Given the description of an element on the screen output the (x, y) to click on. 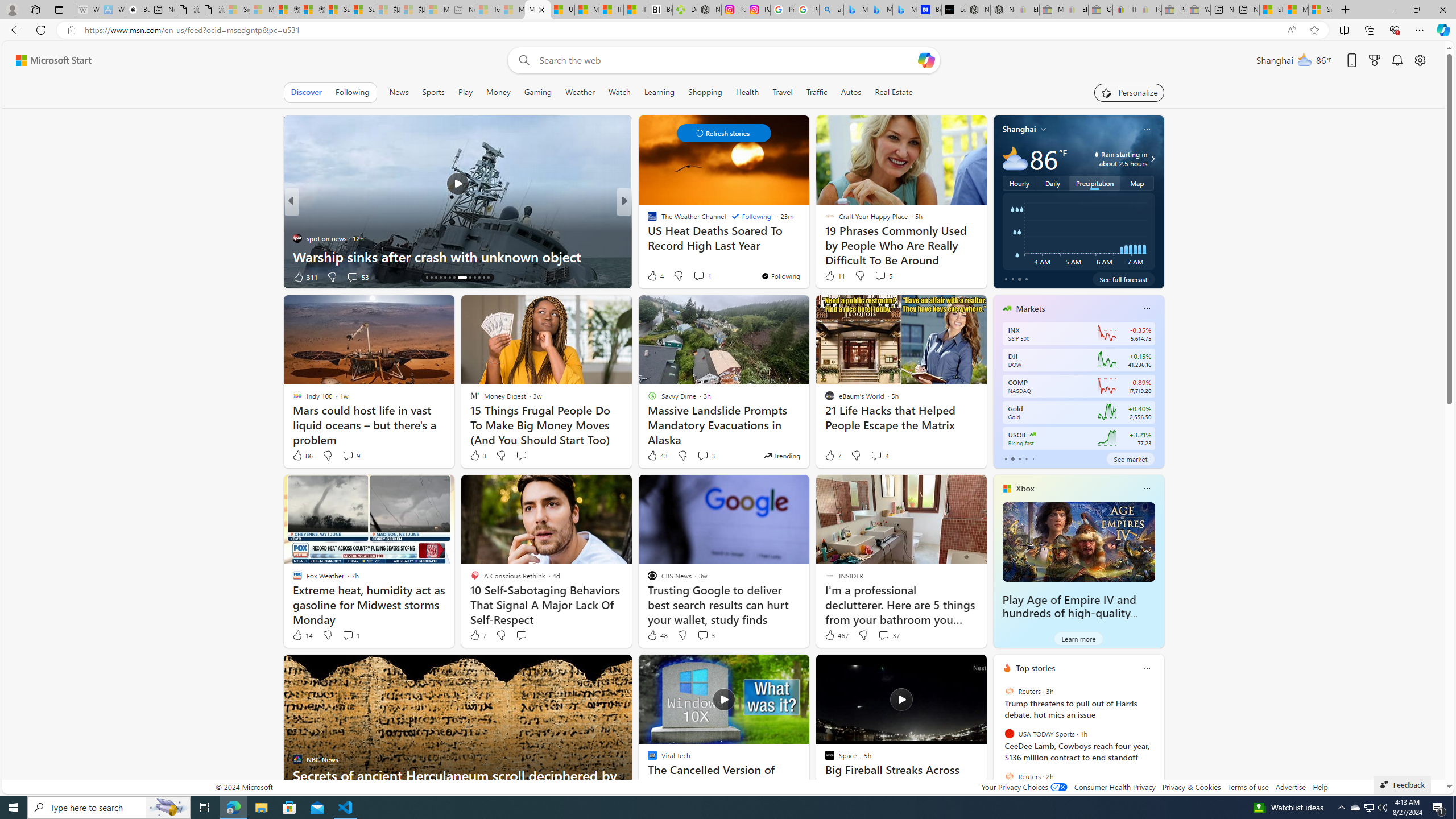
7 Like (477, 634)
View comments 9 Comment (350, 455)
View comments 37 Comment (883, 635)
You're following The Weather Channel (780, 275)
water-drop-icon (1096, 154)
View comments 3 Comment (703, 635)
Class: control (723, 132)
